Given the description of an element on the screen output the (x, y) to click on. 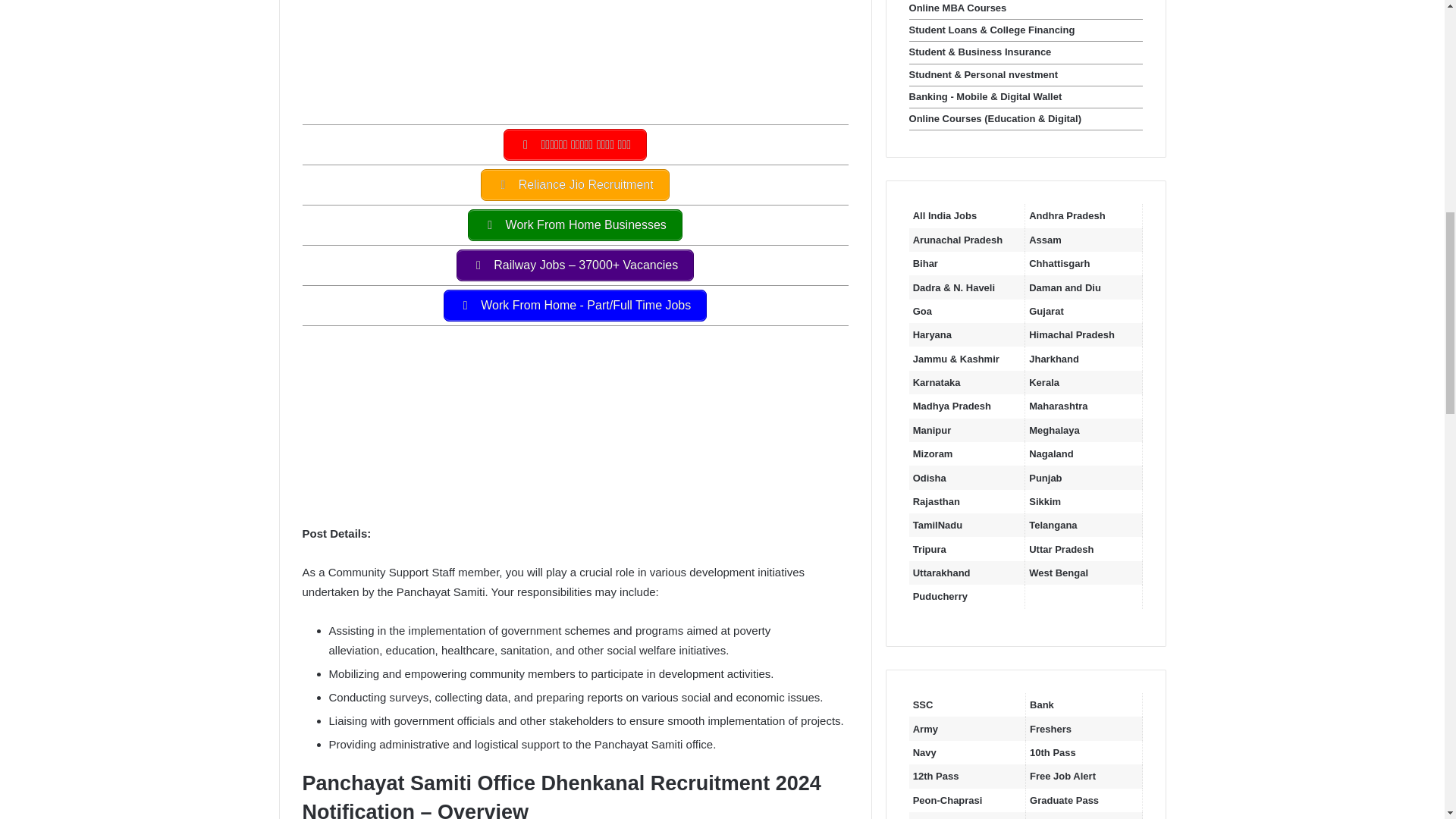
Work From Home Businesses (574, 224)
Reliance Jio Recruitment (574, 184)
Online MBA Courses (957, 7)
